Given the description of an element on the screen output the (x, y) to click on. 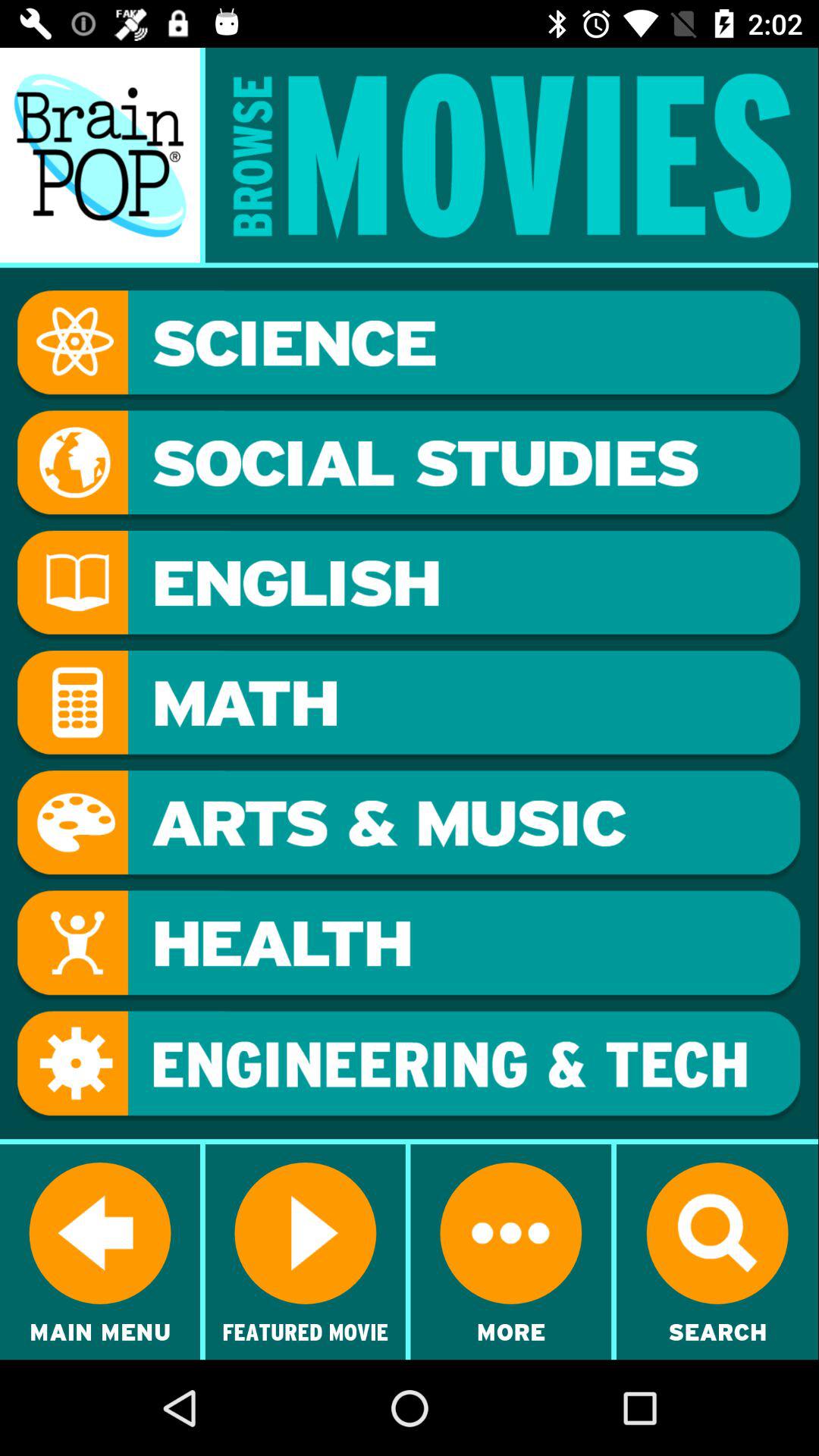
english section (408, 584)
